Given the description of an element on the screen output the (x, y) to click on. 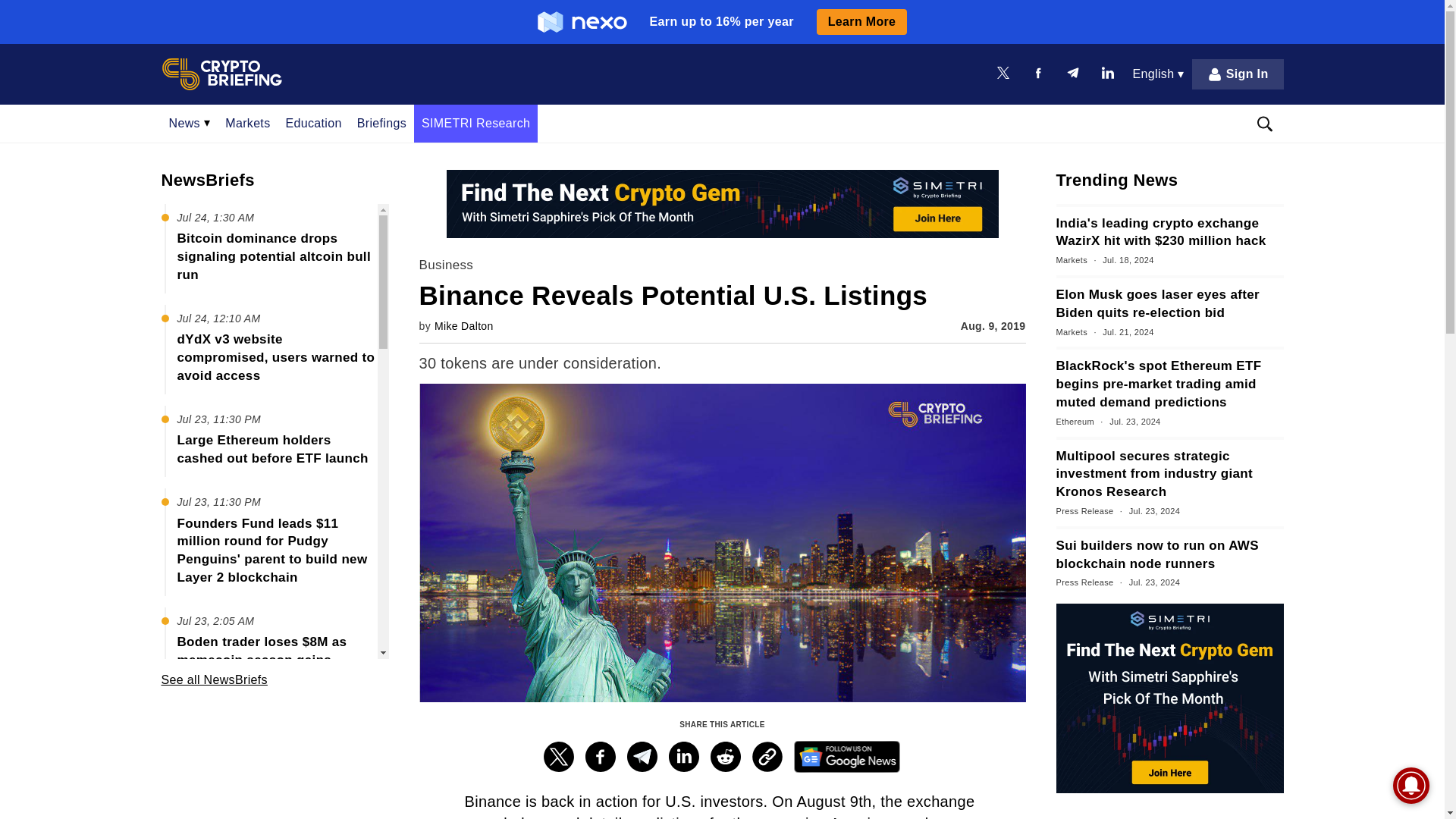
Sign In (1238, 73)
Learn More (861, 22)
News (188, 123)
Sign In (1238, 73)
